Given the description of an element on the screen output the (x, y) to click on. 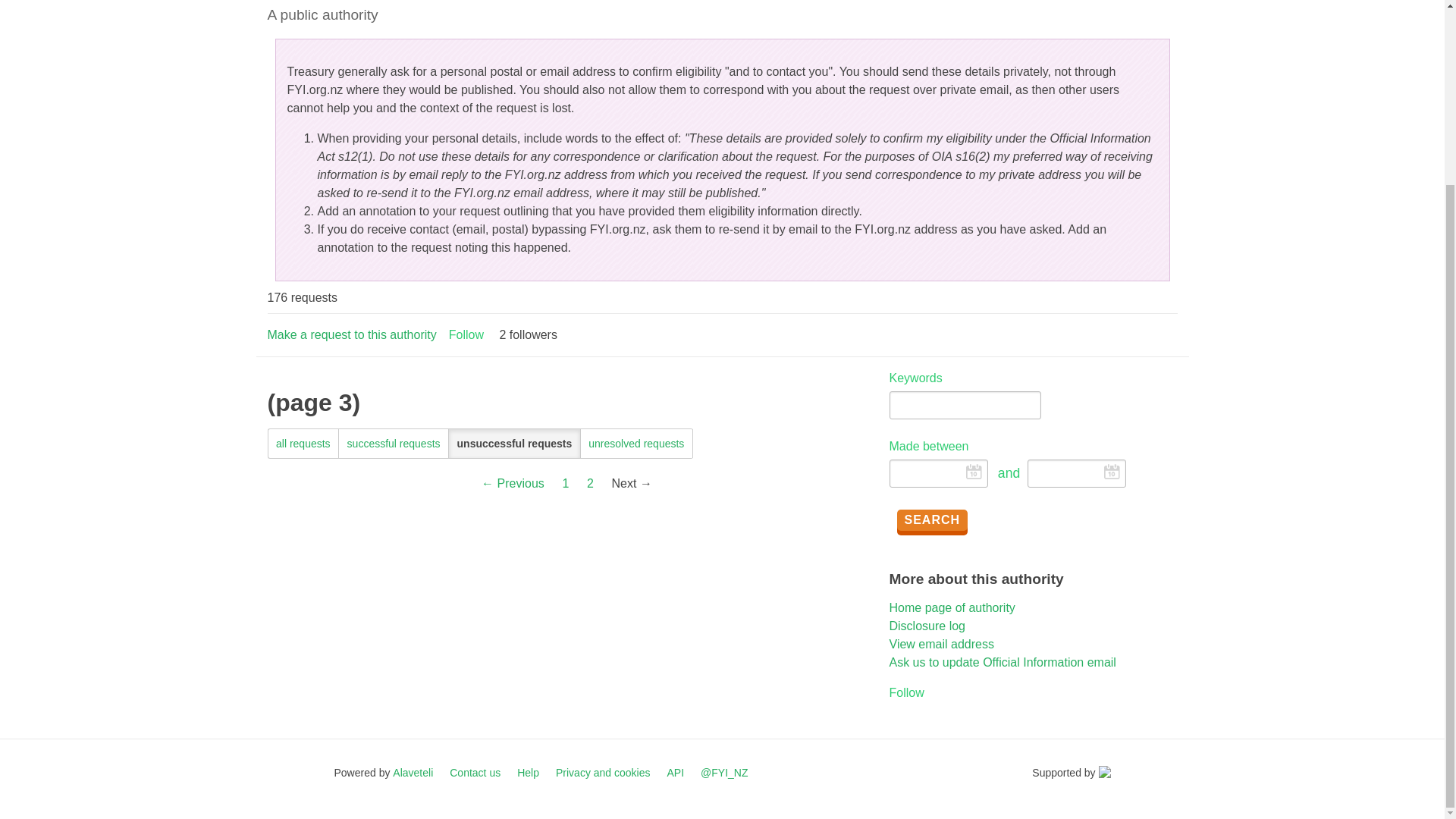
Alaveteli (412, 772)
View email address (940, 644)
Disclosure log (925, 625)
2 (589, 483)
unresolved requests (636, 443)
Follow (905, 692)
successful requests (393, 443)
Ask us to update Official Information email (1001, 662)
Search (932, 519)
all requests (303, 443)
